Given the description of an element on the screen output the (x, y) to click on. 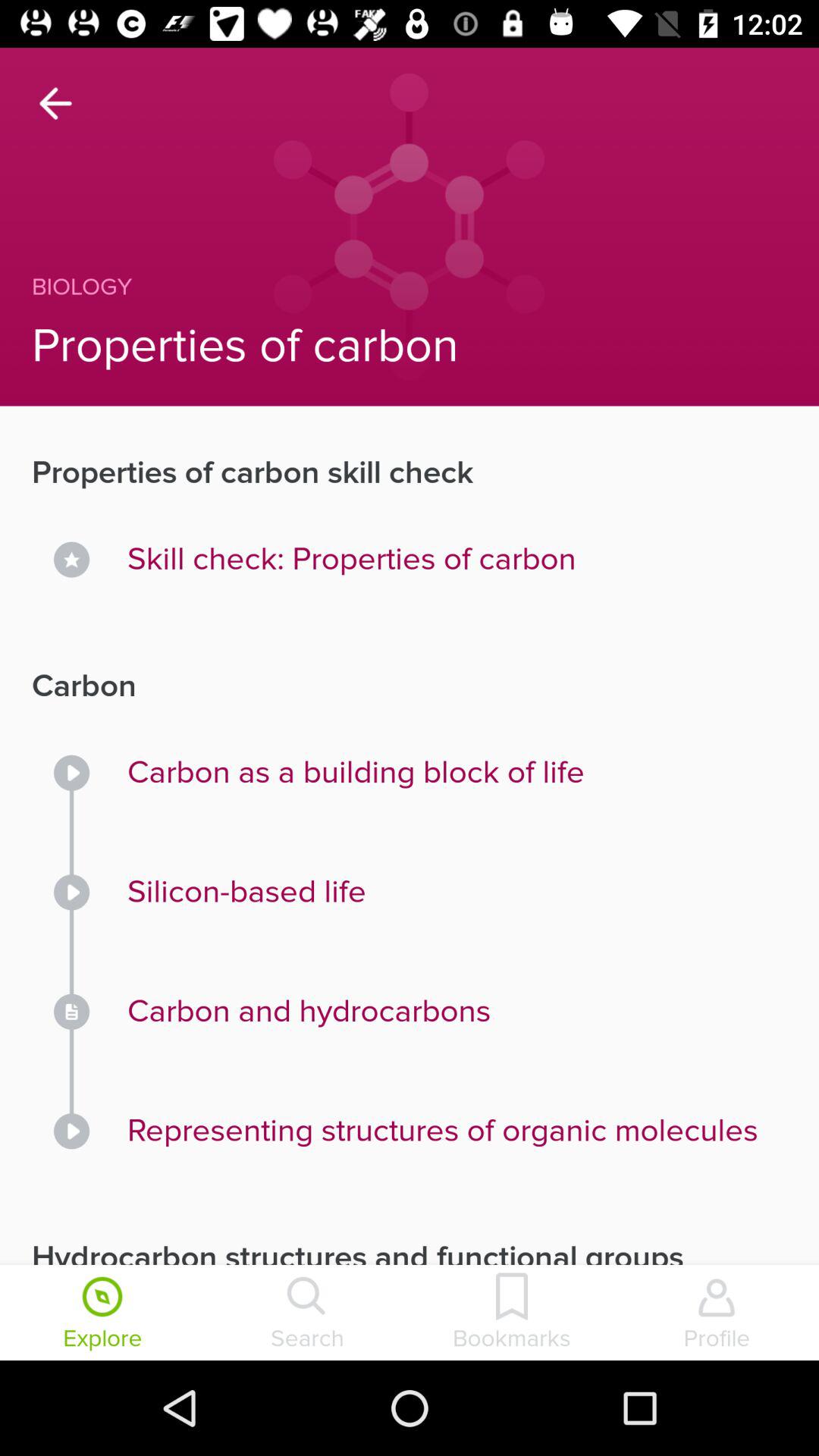
open profile (716, 1314)
